Given the description of an element on the screen output the (x, y) to click on. 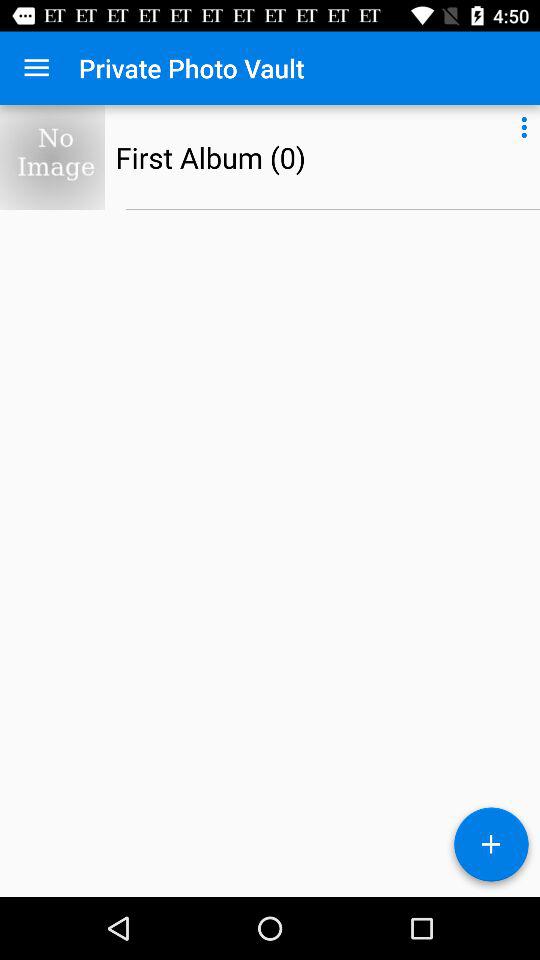
create a new photo album (491, 848)
